Given the description of an element on the screen output the (x, y) to click on. 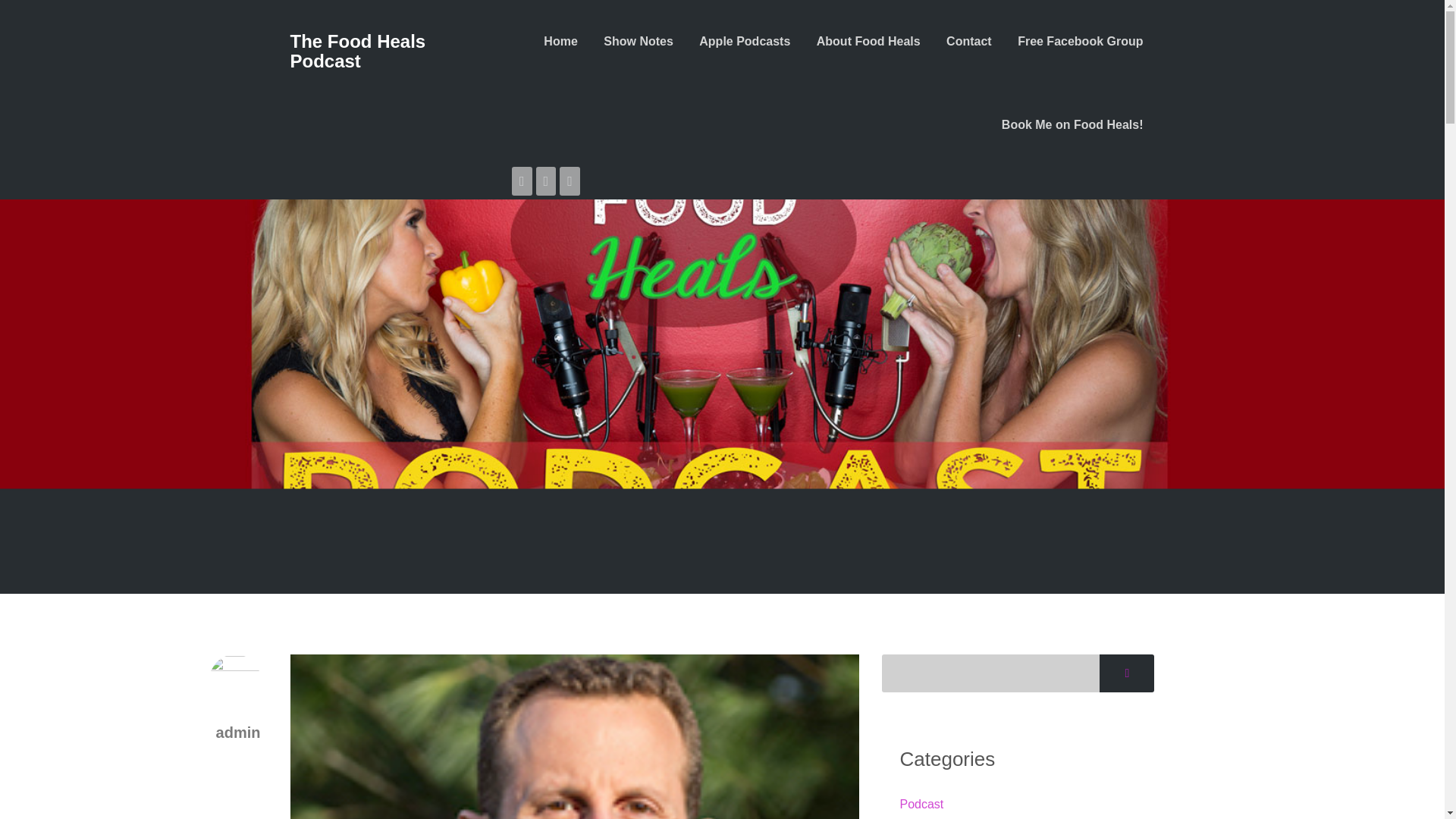
The Food Heals Podcast (389, 52)
Book Me on Food Heals! (1072, 124)
About Food Heals (868, 41)
Apple Podcasts (744, 41)
Show Notes (638, 41)
Free Facebook Group (1080, 41)
